Given the description of an element on the screen output the (x, y) to click on. 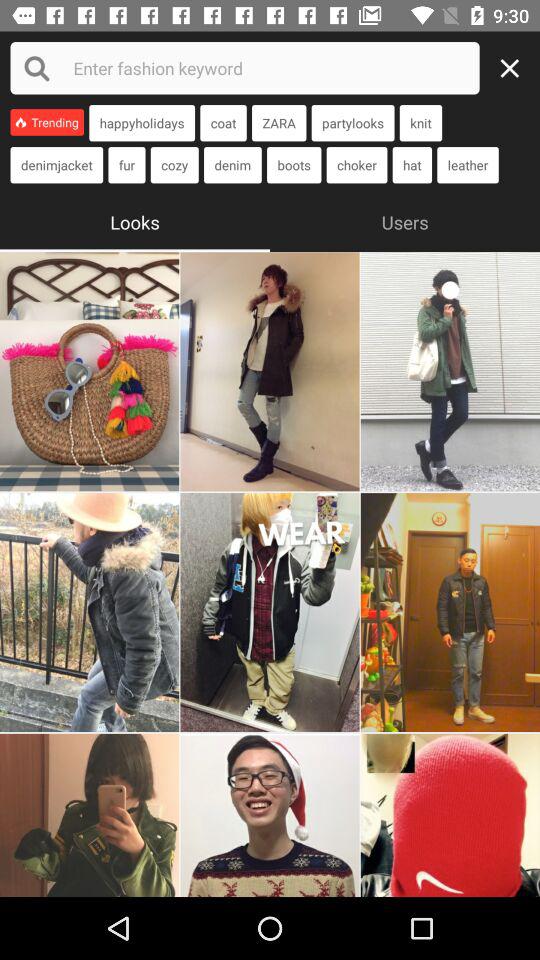
view look (269, 371)
